Given the description of an element on the screen output the (x, y) to click on. 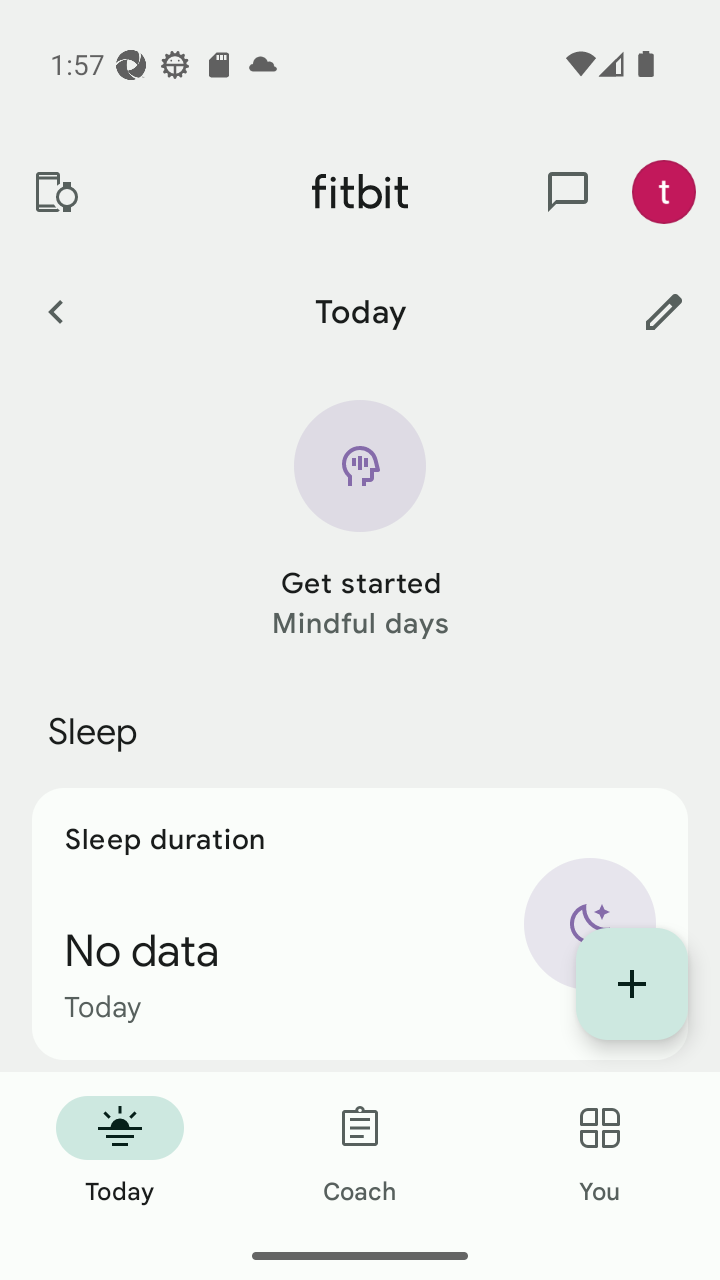
Devices and apps (55, 191)
messages and notifications (567, 191)
Previous Day (55, 311)
Customize (664, 311)
Mindfulness icon Get started Mindful days (360, 521)
Sleep duration No data Today Sleep static arc (359, 923)
Display list of quick log entries (632, 983)
Coach (359, 1151)
You (600, 1151)
